Given the description of an element on the screen output the (x, y) to click on. 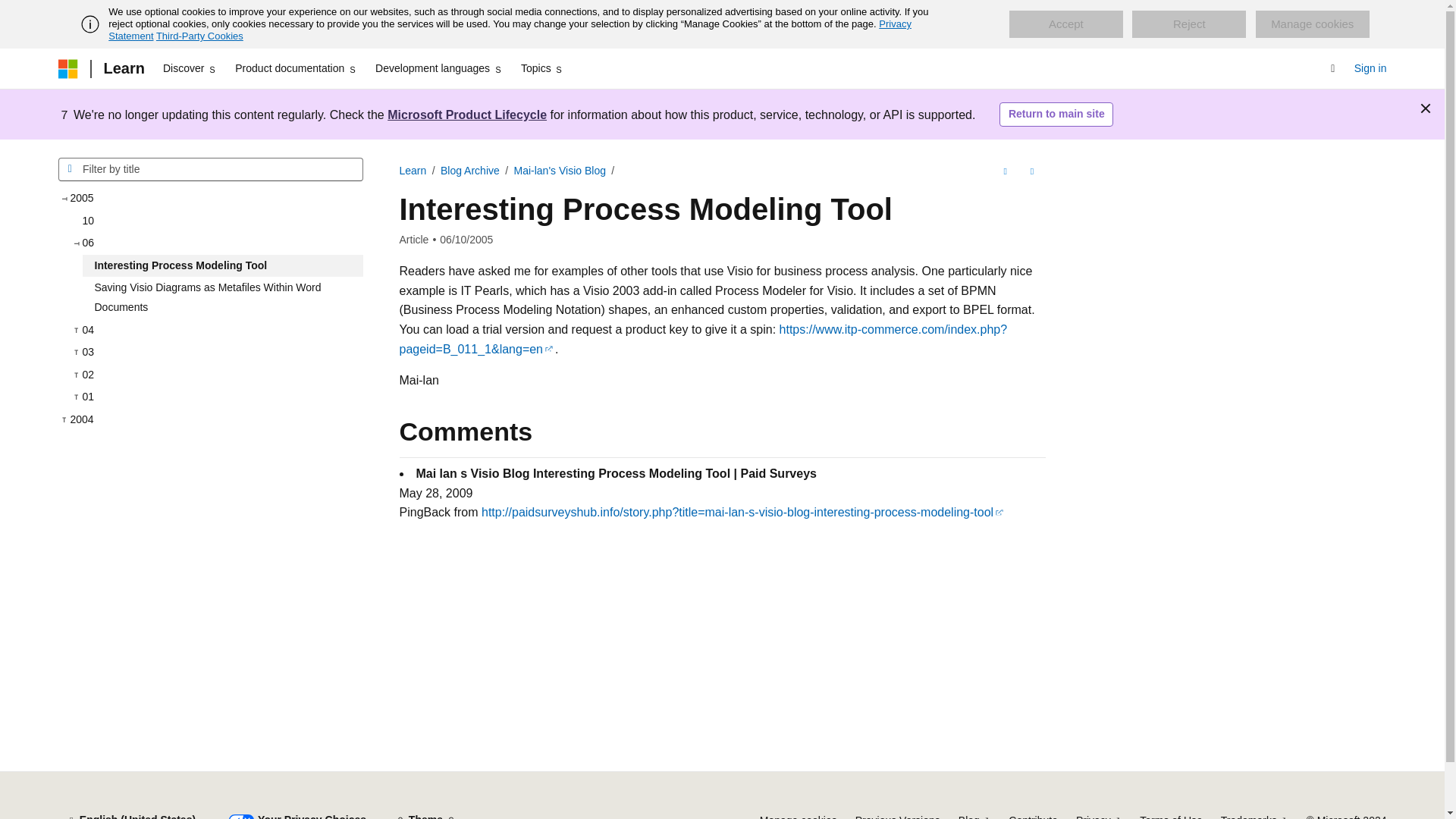
Return to main site (1055, 114)
Third-Party Cookies (199, 35)
Topics (542, 68)
Blog Archive (470, 170)
Learn (412, 170)
Interesting Process Modeling Tool (221, 265)
Learn (123, 68)
Accept (1065, 23)
Theme (425, 813)
Product documentation (295, 68)
